Given the description of an element on the screen output the (x, y) to click on. 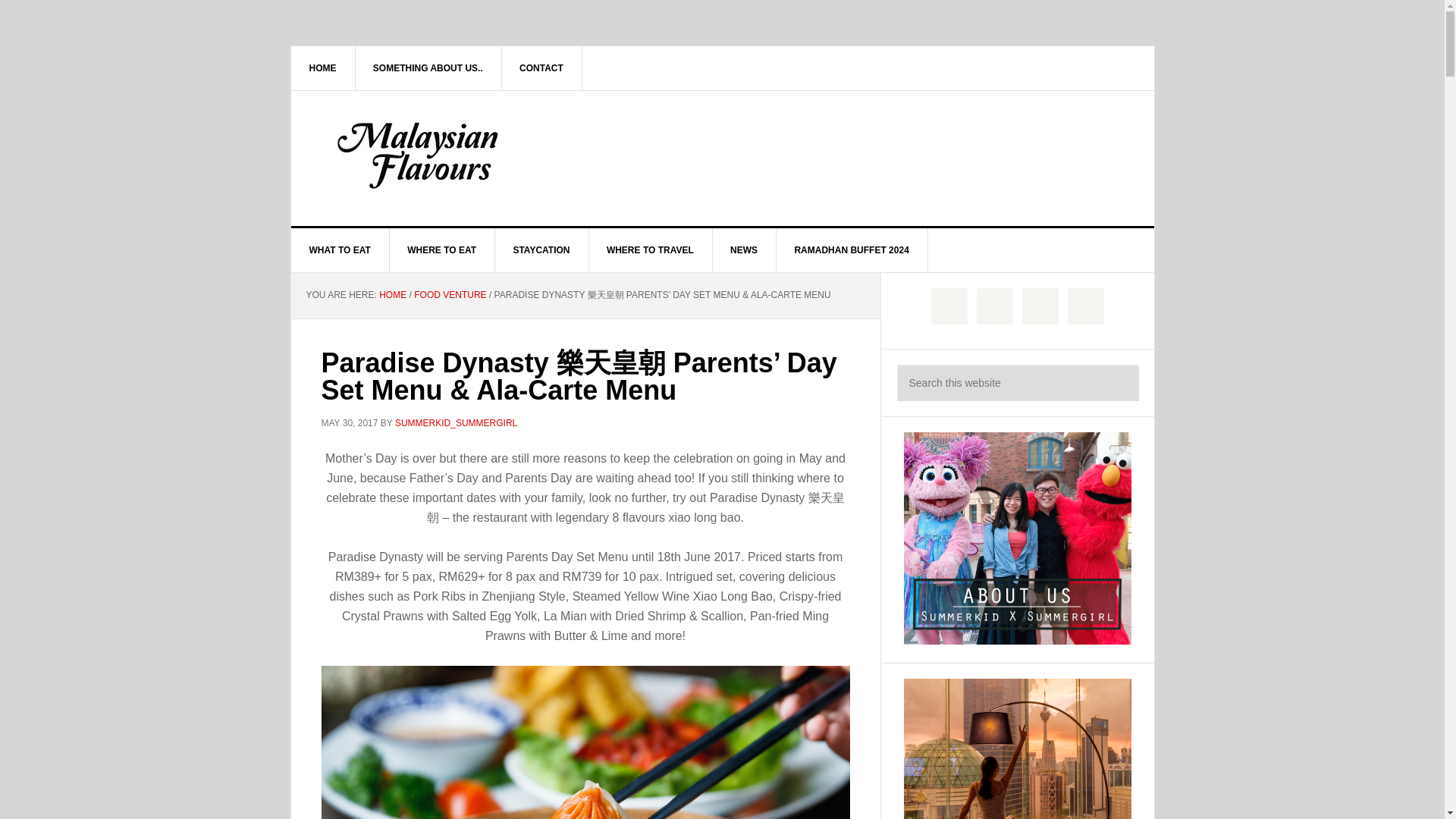
Ramadhan Buffet (851, 249)
WHAT TO EAT (340, 249)
news (743, 249)
Advertisement (835, 155)
WHERE TO EAT (441, 249)
MALAYSIAN FLAVOURS (419, 155)
HOME (323, 67)
CONTACT (541, 67)
SOMETHING ABOUT US.. (428, 67)
